Given the description of an element on the screen output the (x, y) to click on. 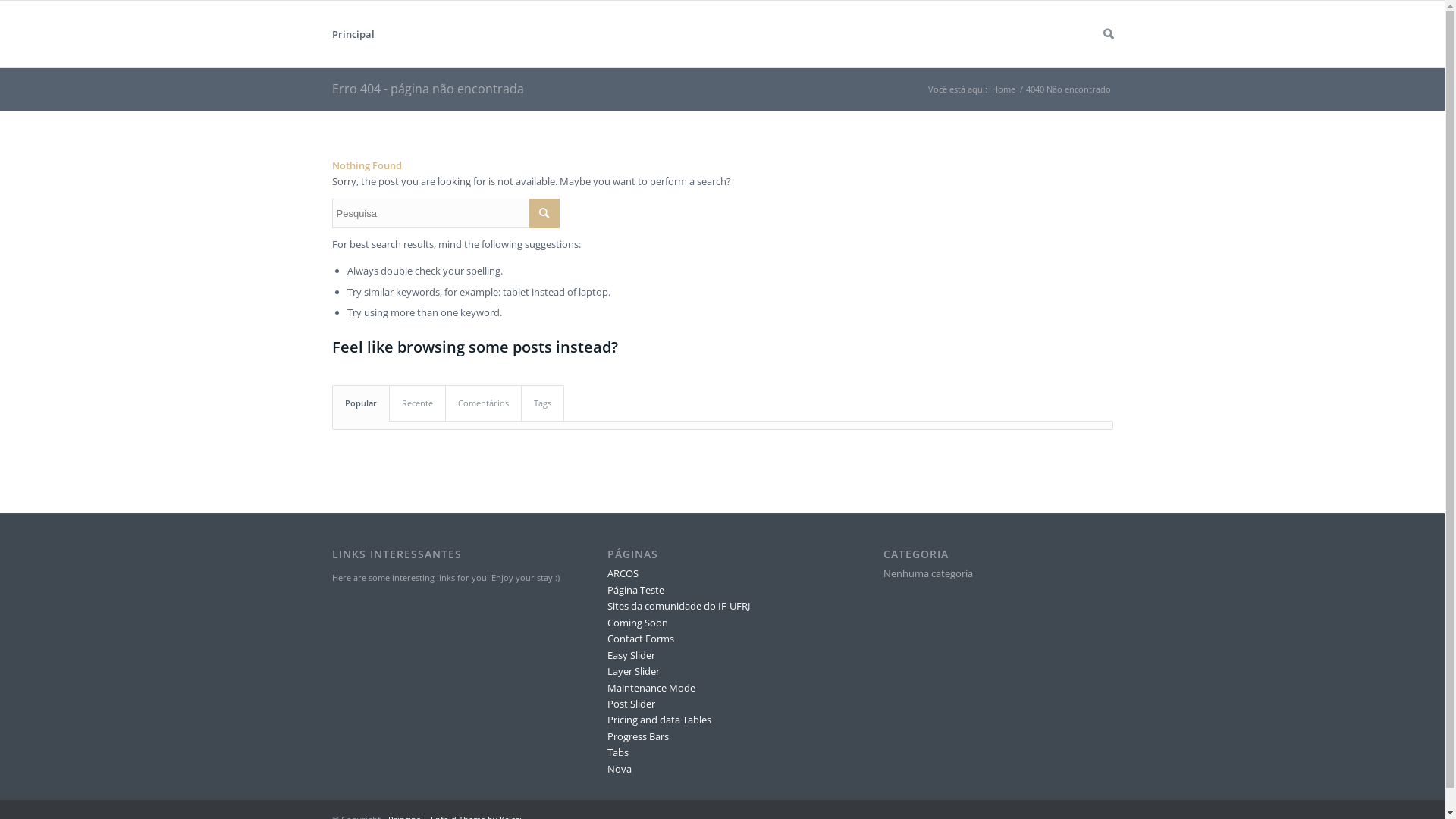
Contact Forms Element type: text (640, 638)
ARCOS Element type: text (622, 573)
Layer Slider Element type: text (633, 670)
Tabs Element type: text (617, 752)
Sites da comunidade do IF-UFRJ Element type: text (678, 605)
Home Element type: text (1002, 88)
Maintenance Mode Element type: text (651, 687)
Coming Soon Element type: text (637, 622)
Easy Slider Element type: text (631, 655)
Principal Element type: text (353, 33)
Post Slider Element type: text (631, 703)
Pricing and data Tables Element type: text (659, 719)
Nova Element type: text (619, 768)
Progress Bars Element type: text (637, 736)
